Given the description of an element on the screen output the (x, y) to click on. 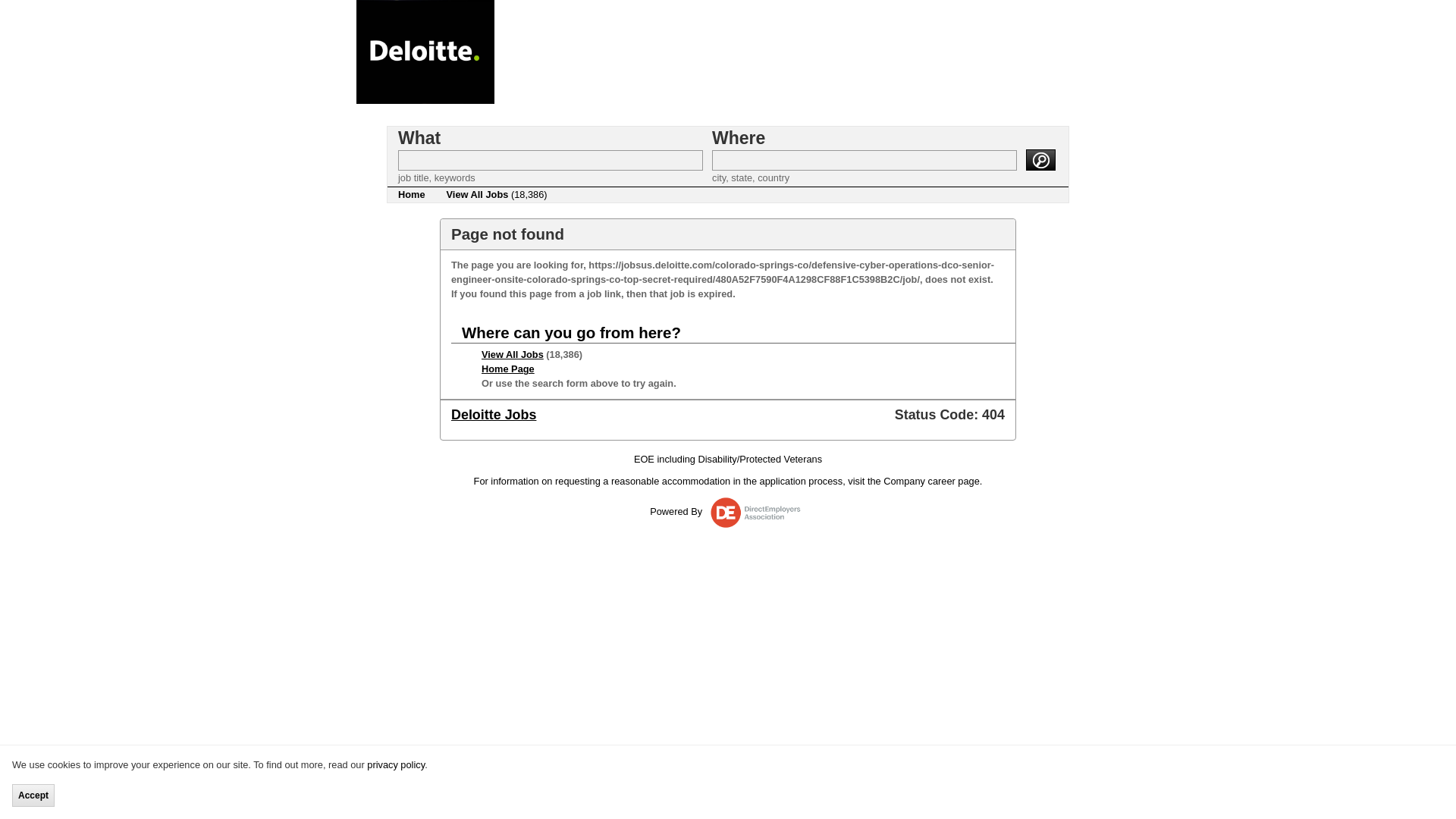
Search Location (863, 159)
search (1040, 158)
visit the Company career page (913, 480)
Search Phrase (550, 159)
search (1040, 158)
Home (411, 193)
Home Page (507, 368)
View All Jobs (512, 354)
Submit Search (1040, 158)
requesting a reasonable accommodation (642, 480)
